Given the description of an element on the screen output the (x, y) to click on. 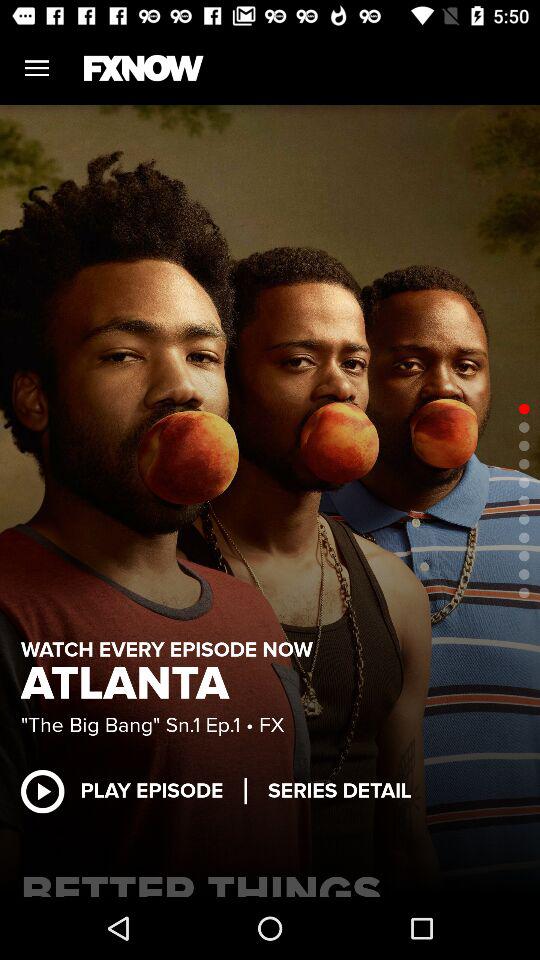
tap the icon below the big bang icon (132, 790)
